Given the description of an element on the screen output the (x, y) to click on. 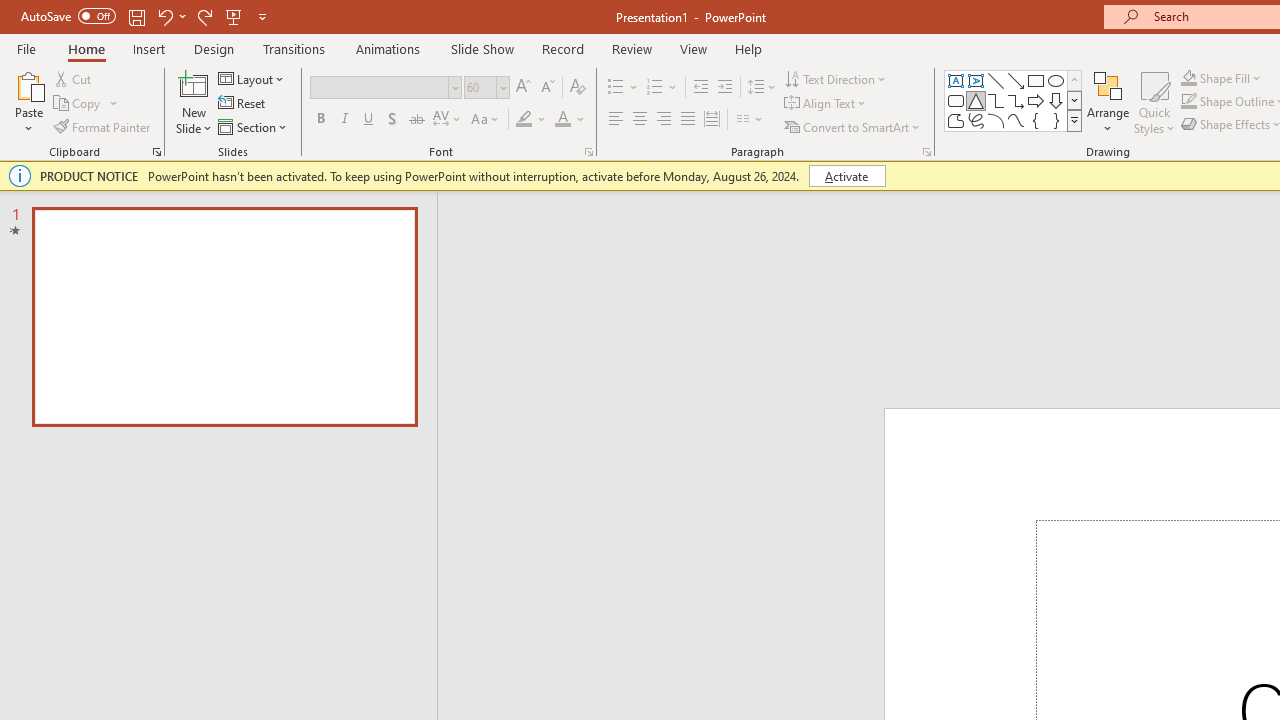
Columns (750, 119)
Font... (588, 151)
Change Case (486, 119)
Center (639, 119)
Line Arrow (1016, 80)
Curve (1016, 120)
Decrease Font Size (547, 87)
Distributed (712, 119)
